Given the description of an element on the screen output the (x, y) to click on. 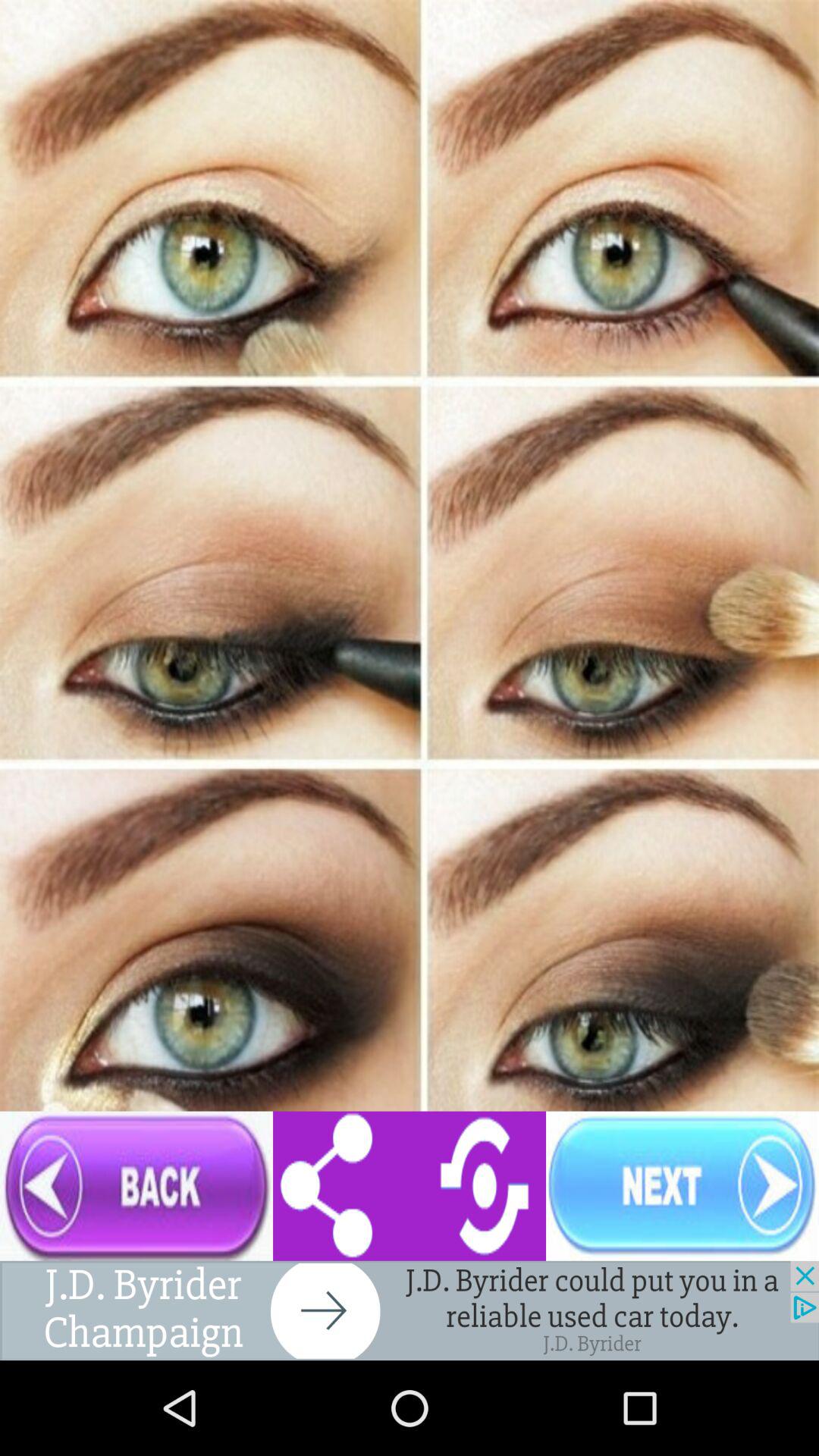
share (409, 1185)
